Given the description of an element on the screen output the (x, y) to click on. 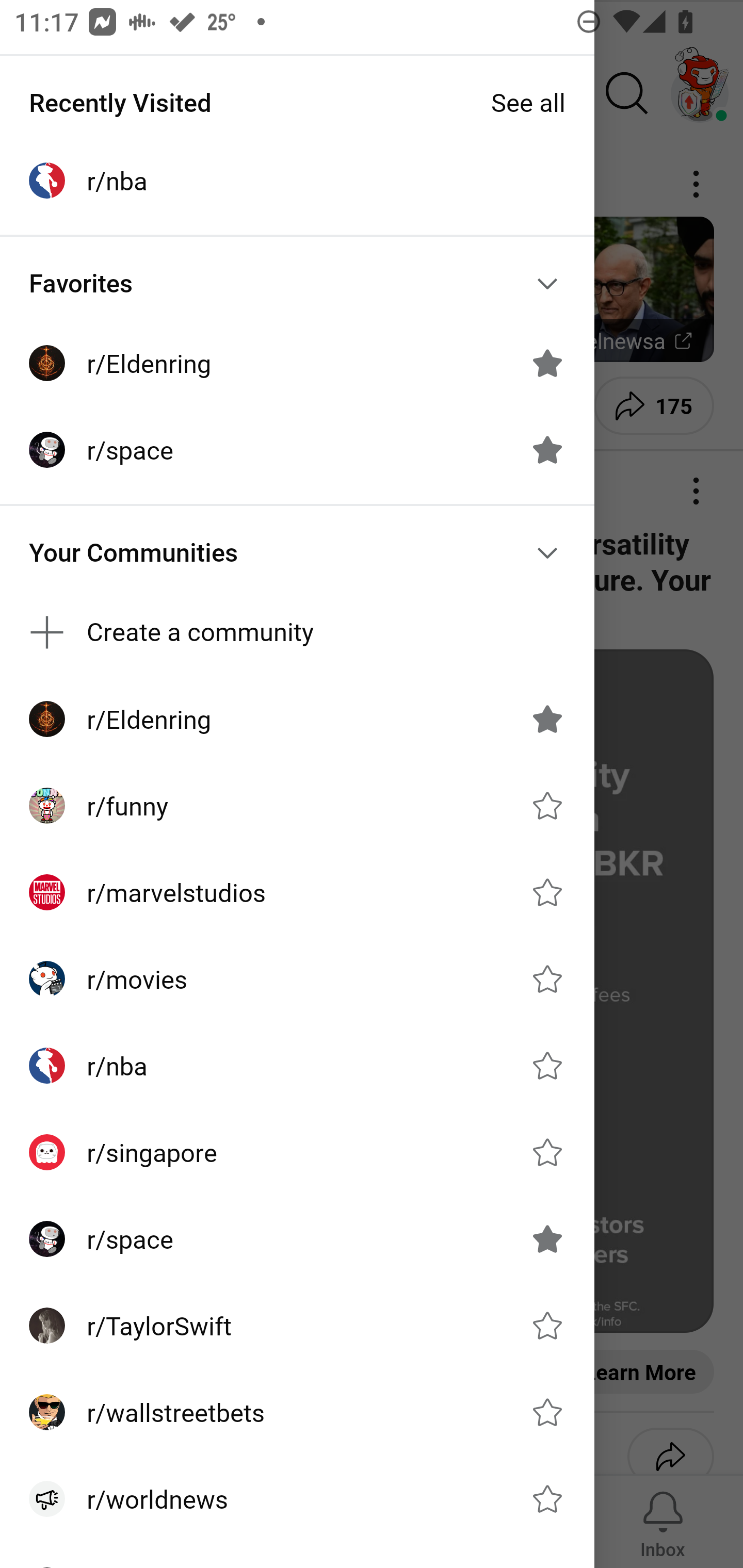
Recently Visited See all (297, 102)
See all (528, 102)
r/nba (297, 180)
Favorites (297, 283)
r/Eldenring Unfavorite r/Eldenring (297, 362)
Unfavorite r/Eldenring (546, 362)
r/space Unfavorite r/space (297, 449)
Unfavorite r/space (546, 449)
Your Communities (297, 553)
Create a community (297, 632)
r/Eldenring Unfavorite r/Eldenring (297, 718)
Unfavorite r/Eldenring (546, 718)
r/funny Favorite r/funny (297, 805)
Favorite r/funny (546, 805)
r/marvelstudios Favorite r/marvelstudios (297, 892)
Favorite r/marvelstudios (546, 891)
r/movies Favorite r/movies (297, 979)
Favorite r/movies (546, 979)
r/nba Favorite r/nba (297, 1065)
Favorite r/nba (546, 1065)
r/singapore Favorite r/singapore (297, 1151)
Favorite r/singapore (546, 1152)
r/space Unfavorite r/space (297, 1238)
Unfavorite r/space (546, 1238)
r/TaylorSwift Favorite r/TaylorSwift (297, 1325)
Favorite r/TaylorSwift (546, 1325)
r/wallstreetbets Favorite r/wallstreetbets (297, 1411)
Favorite r/wallstreetbets (546, 1411)
r/worldnews Favorite r/worldnews (297, 1498)
Favorite r/worldnews (546, 1498)
